Given the description of an element on the screen output the (x, y) to click on. 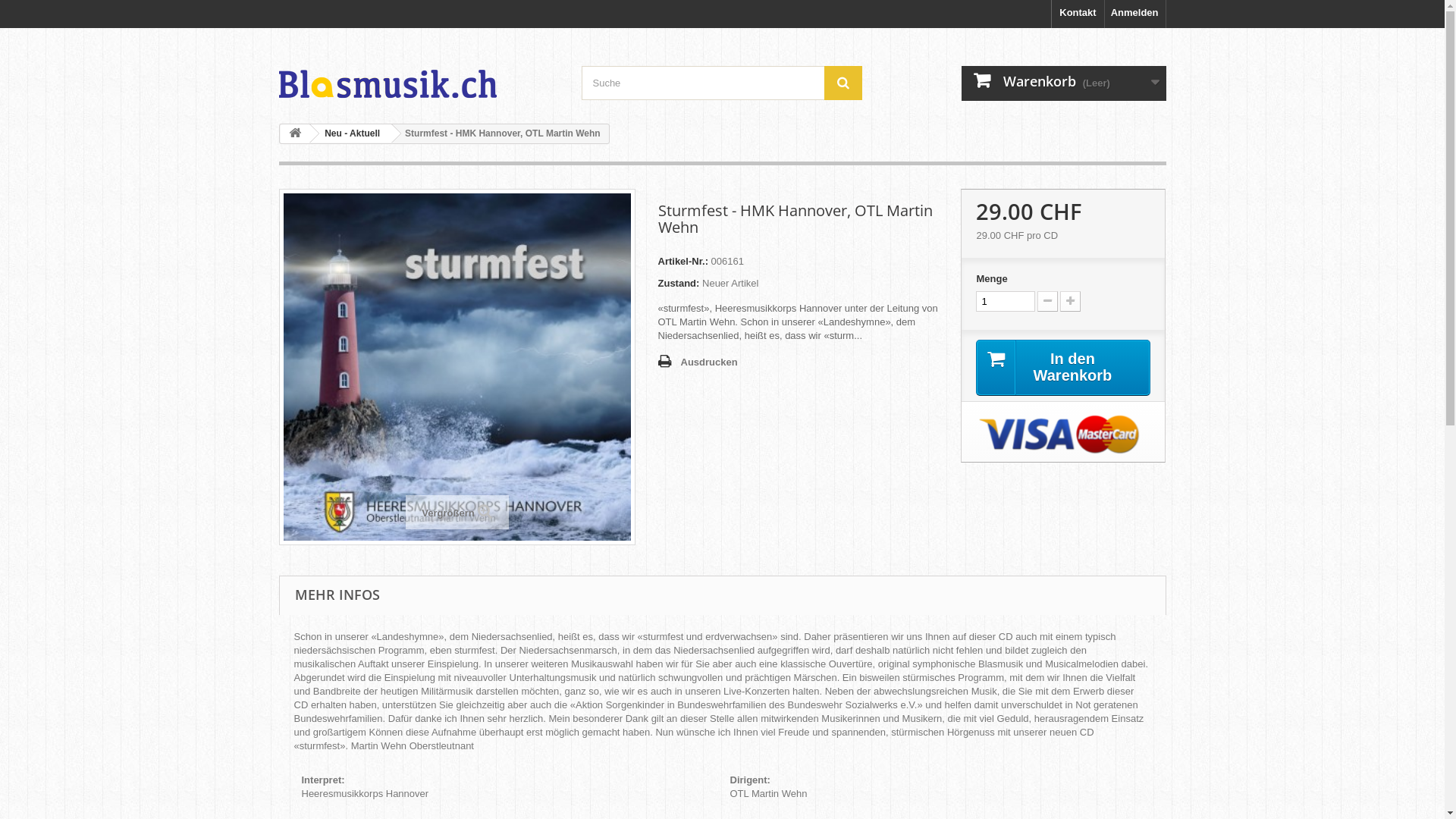
Neu - Aktuell Element type: text (349, 133)
Kontakt Element type: text (1077, 14)
Anmelden Element type: text (1134, 14)
Ausdrucken Element type: text (697, 362)
www.blasmusik.ch Element type: hover (419, 68)
Sturmfest - HMK Hannover, OTL Martin Wehn_4368 Element type: hover (456, 366)
Warenkorb (Leer) Element type: text (1063, 82)
In den Warenkorb Element type: text (1062, 367)
